Given the description of an element on the screen output the (x, y) to click on. 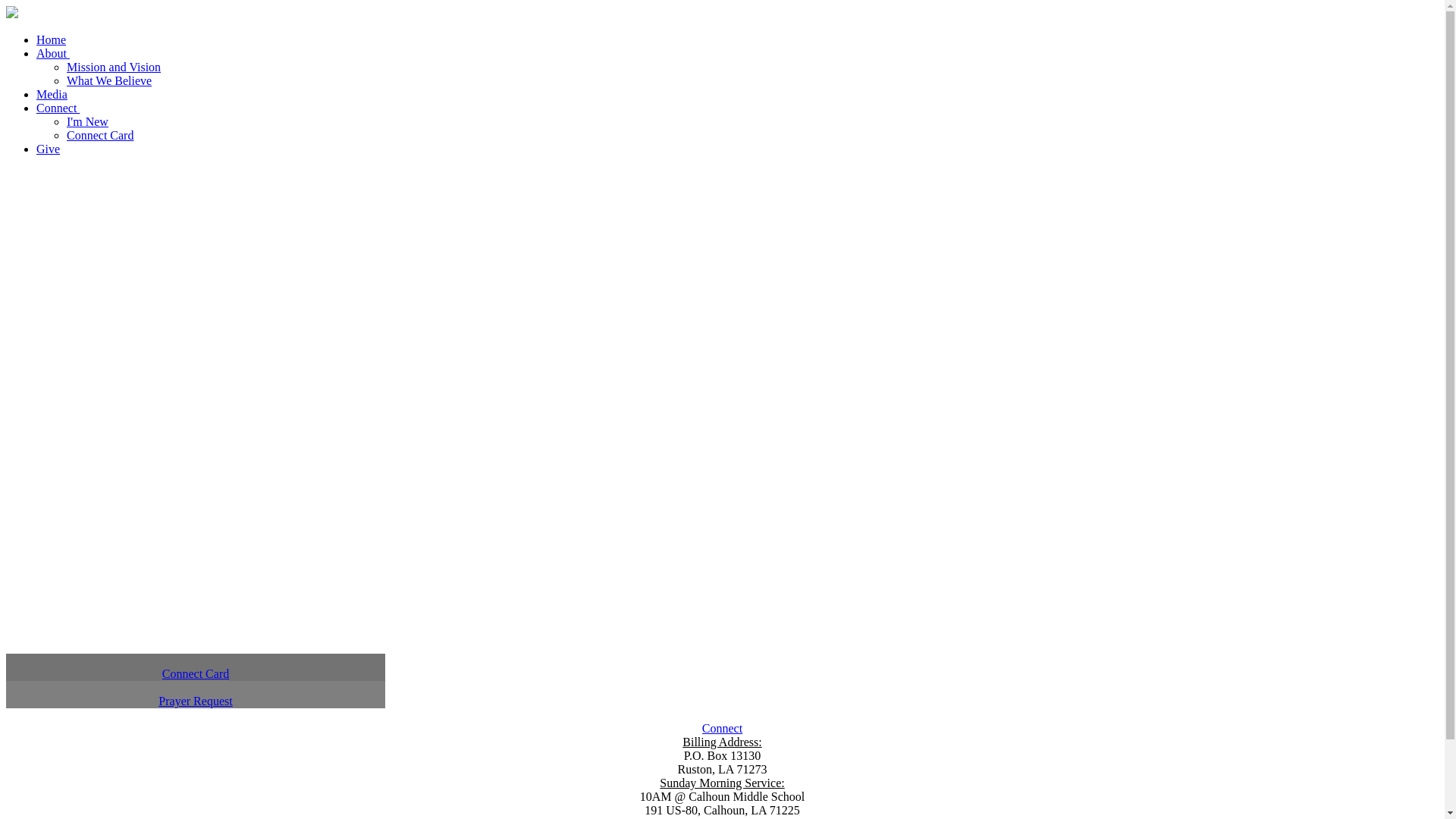
Home Element type: text (50, 39)
Prayer Request Element type: text (195, 694)
Connect Card Element type: text (195, 666)
Mission and Vision Element type: text (113, 66)
About  Element type: text (52, 53)
I'm New Element type: text (87, 121)
Media Element type: text (51, 93)
Connect Card Element type: text (99, 134)
Connect  Element type: text (57, 107)
Connect Element type: text (722, 727)
What We Believe Element type: text (108, 80)
Give Element type: text (47, 148)
